Given the description of an element on the screen output the (x, y) to click on. 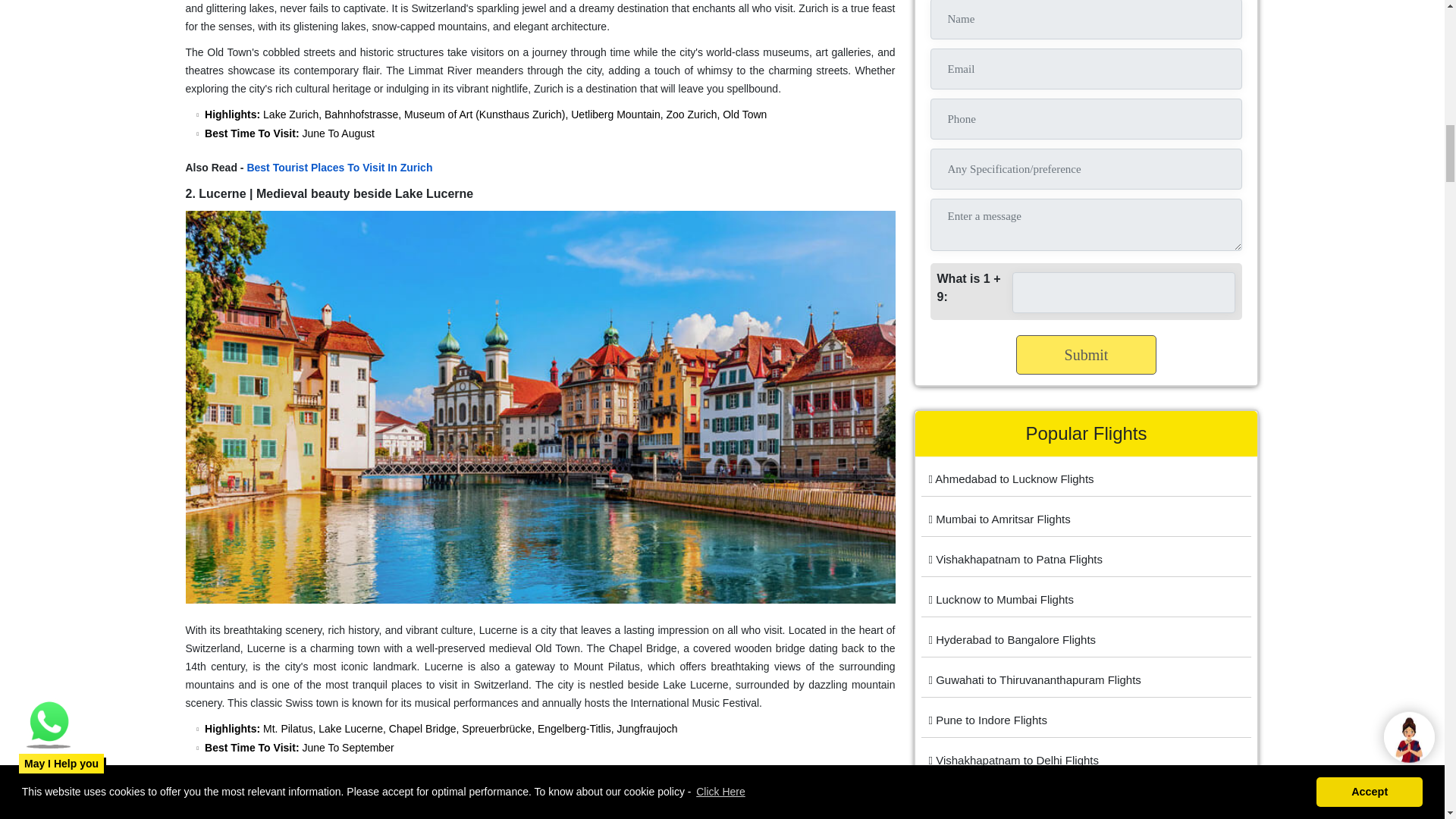
Submit (1086, 354)
